Given the description of an element on the screen output the (x, y) to click on. 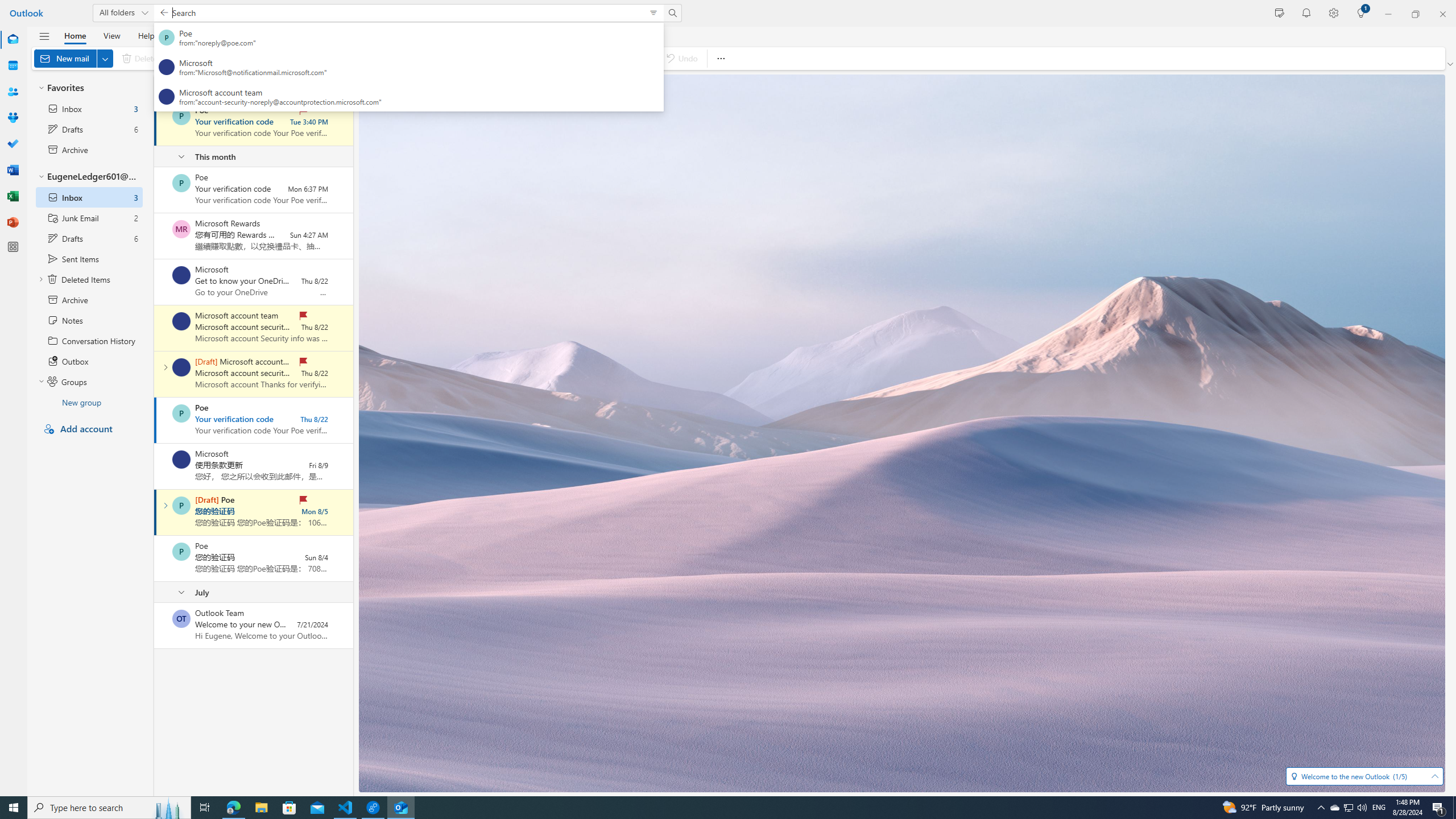
Hide navigation pane (44, 36)
Microsoft account team (180, 367)
People (12, 92)
Expand to see more respond options (398, 58)
Select a conversation (180, 618)
Expand to see delete options (164, 58)
To Do (12, 143)
Filter (318, 86)
PowerPoint (12, 222)
Mark as unread (154, 625)
New mail (73, 58)
More apps (12, 246)
Word (12, 170)
Mark all as read (448, 58)
